Given the description of an element on the screen output the (x, y) to click on. 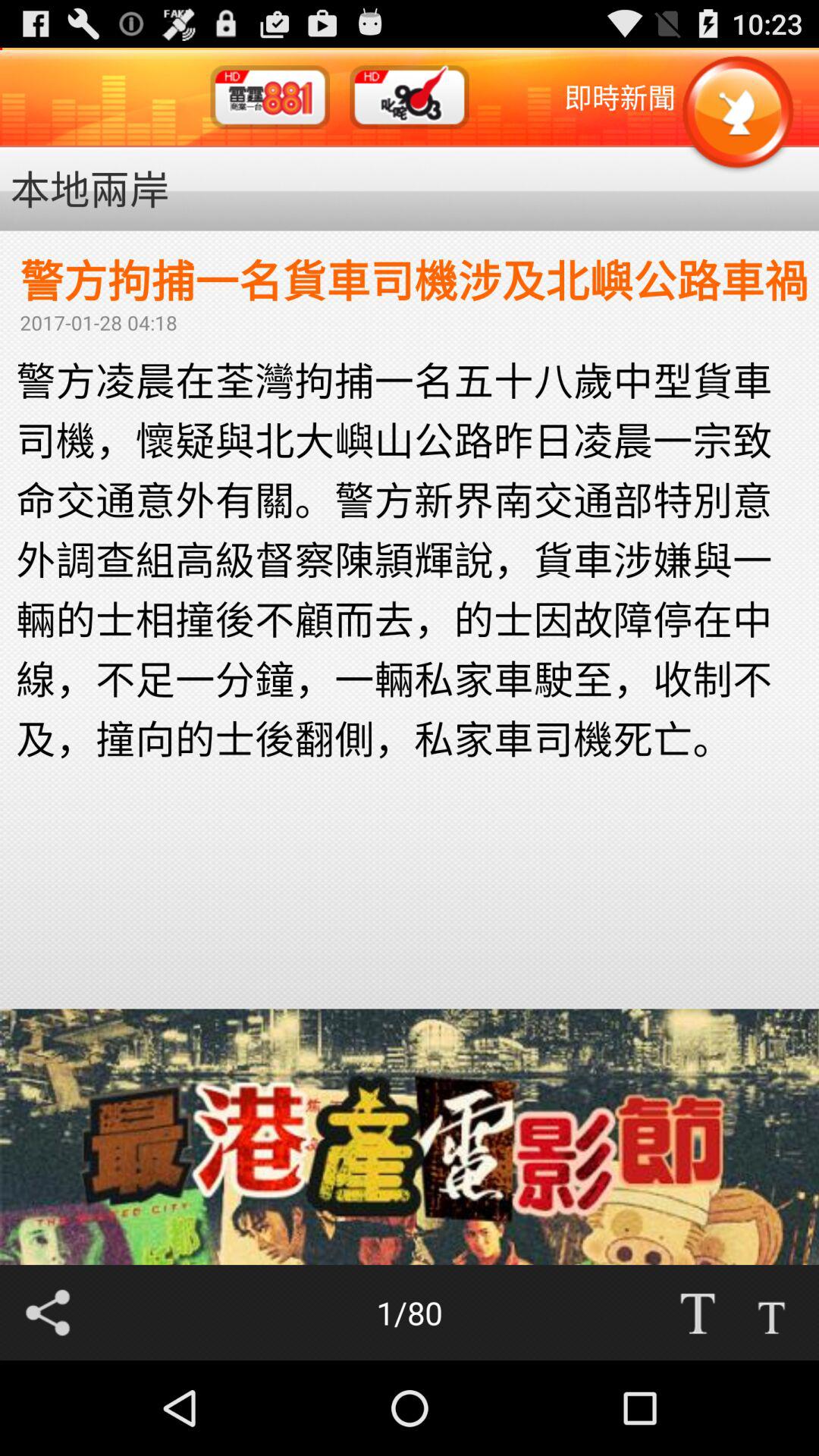
decrease font (771, 1312)
